Given the description of an element on the screen output the (x, y) to click on. 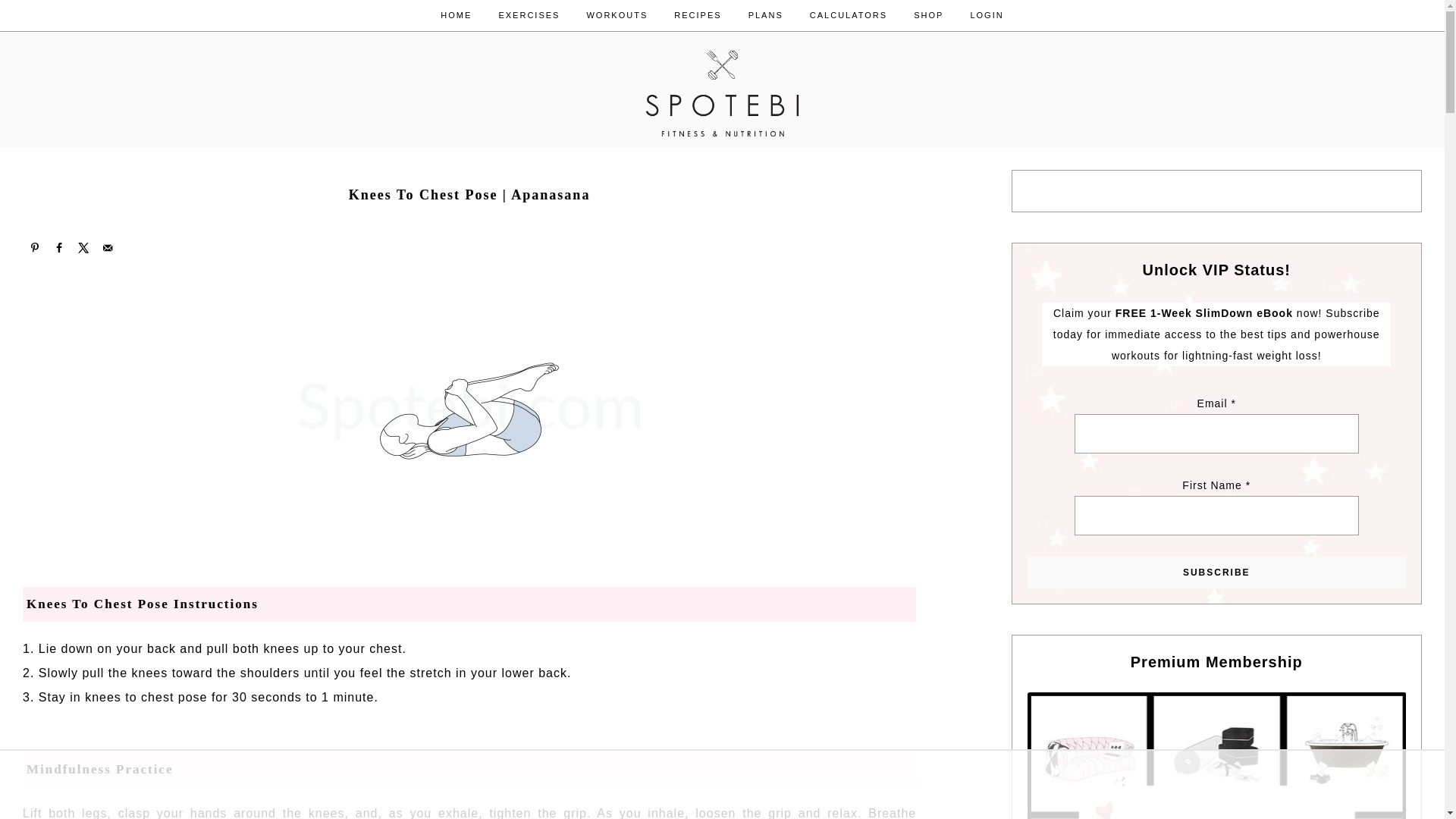
WORKOUTS (617, 15)
Share on X (83, 247)
Send over email (107, 247)
PLANS (765, 15)
EXERCISES (528, 15)
SHOP (928, 15)
Save to Pinterest (34, 247)
HOME (456, 15)
CALCULATORS (847, 15)
RECIPES (697, 15)
LOGIN (986, 15)
Share on Facebook (58, 247)
Subscribe (1216, 572)
